Given the description of an element on the screen output the (x, y) to click on. 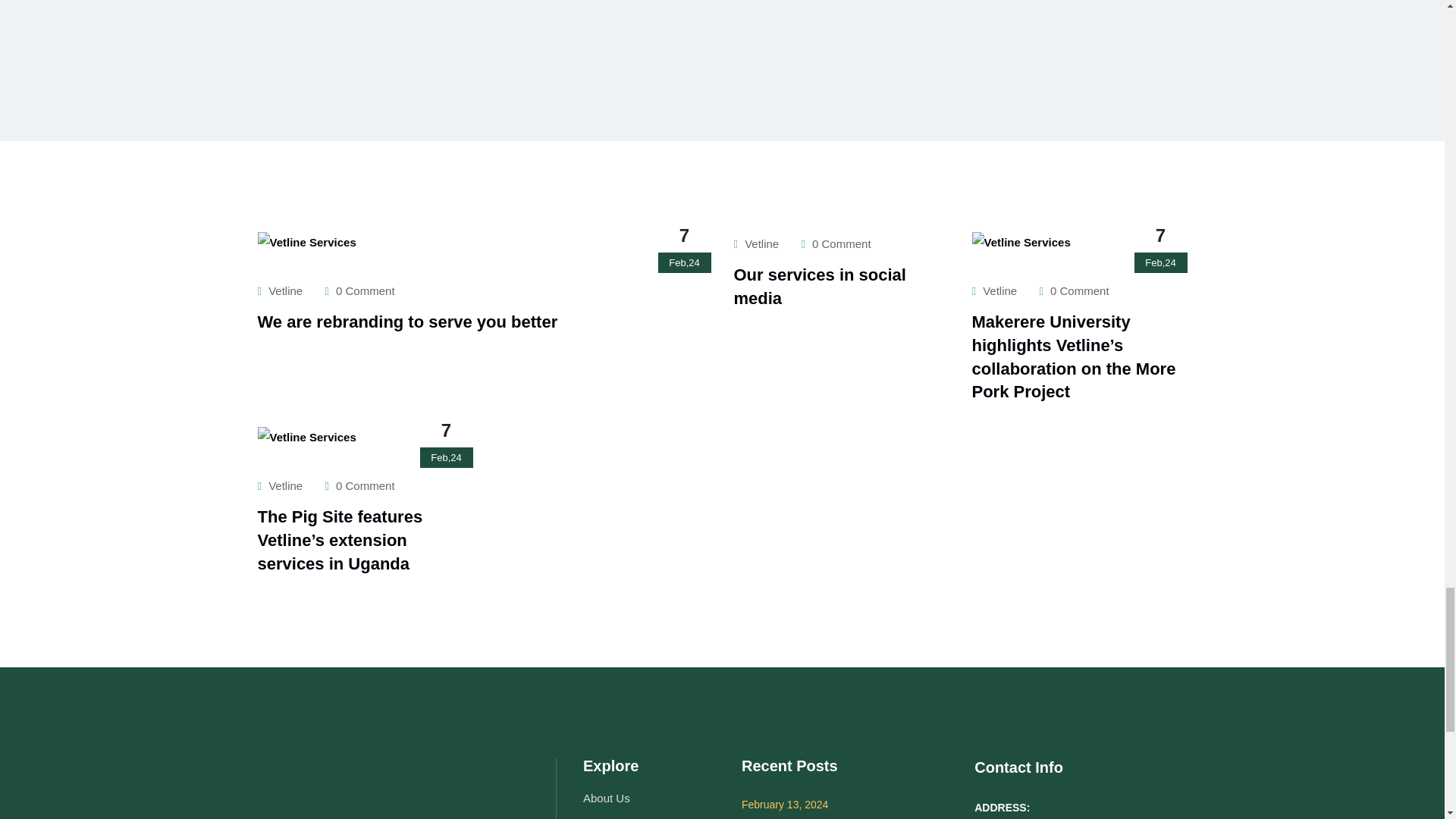
Our services in social media (819, 286)
We are rebranding to serve you better (407, 321)
0 Comment (359, 485)
0 Comment (359, 290)
Vetline (279, 485)
0 Comment (1073, 290)
Vetline (279, 290)
Vetline (994, 290)
0 Comment (835, 243)
Vetline (755, 243)
